Given the description of an element on the screen output the (x, y) to click on. 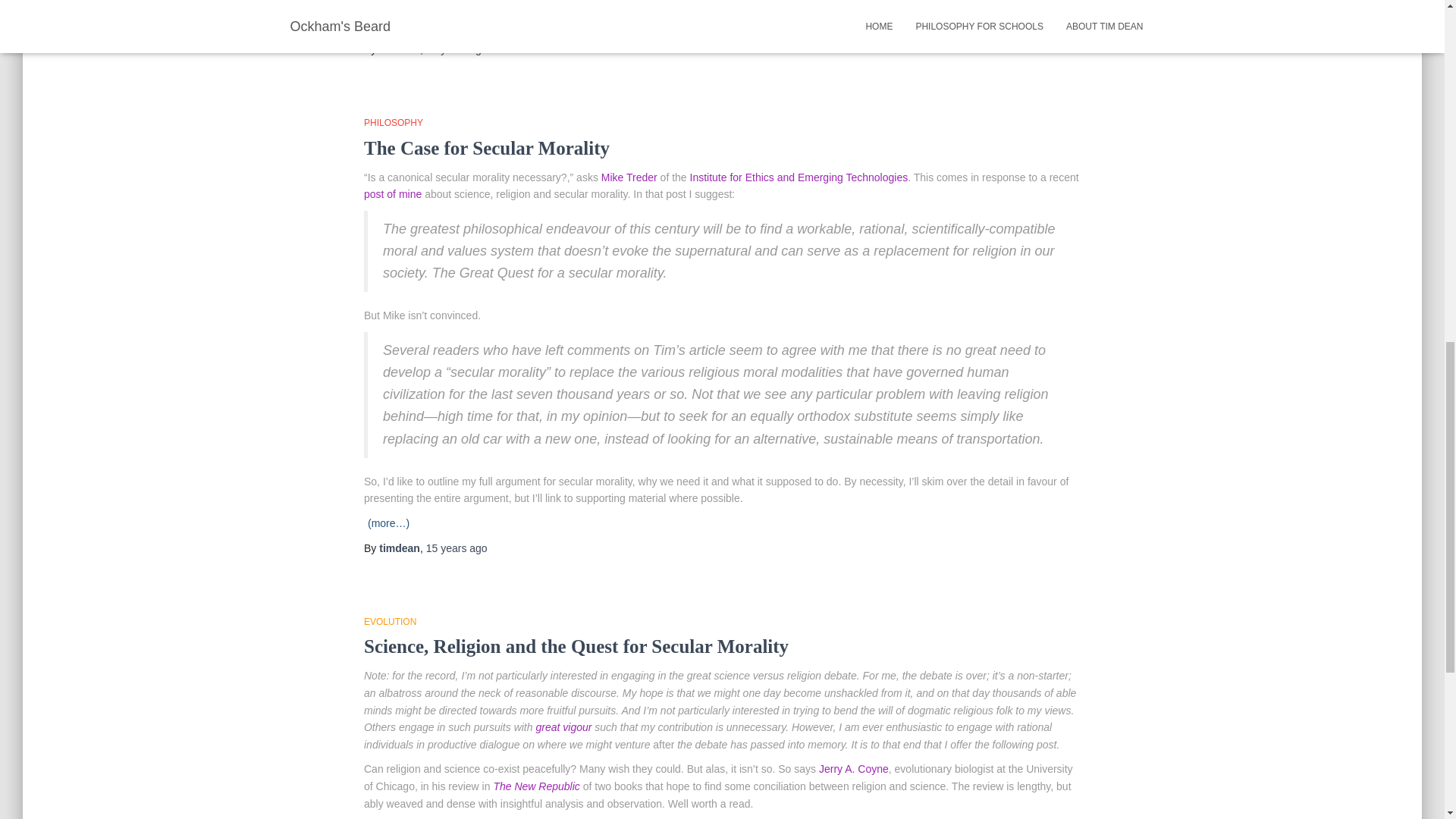
timdean (399, 548)
PHILOSOPHY (393, 122)
15 years ago (456, 548)
EVOLUTION (390, 621)
The Case for Secular Morality (487, 148)
15 years ago (456, 49)
Science, Religion and the Quest for Secular Morality (576, 646)
The Case for Secular Morality (487, 148)
timdean (399, 49)
The New Republic (536, 786)
Mike Treder (629, 177)
great (547, 727)
Institute for Ethics and Emerging Technologies (799, 177)
View all posts in evolution (390, 621)
timdean (399, 548)
